Given the description of an element on the screen output the (x, y) to click on. 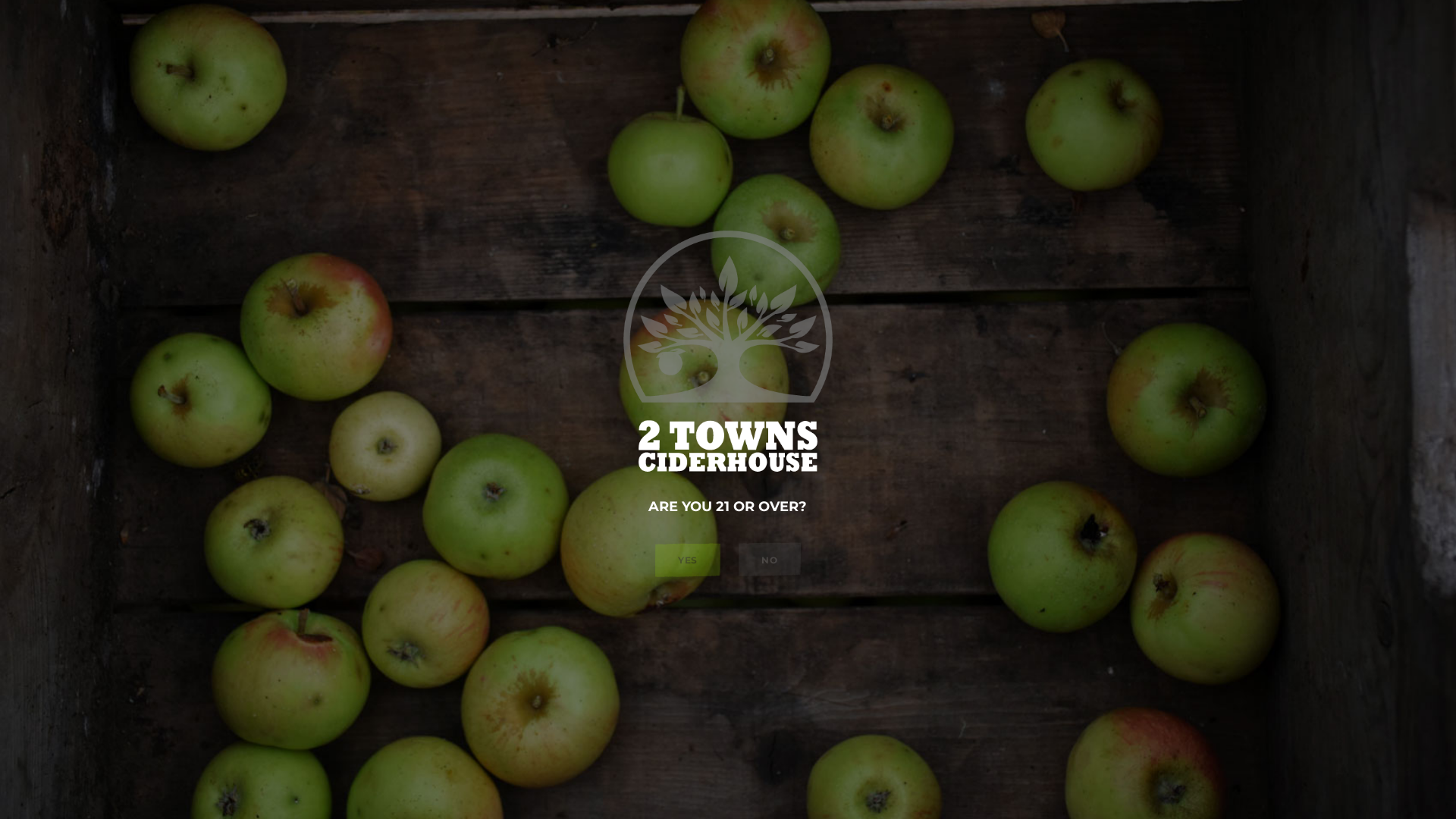
CAREERS Element type: text (127, 228)
NO Element type: text (769, 559)
CONTACT US Element type: text (137, 212)
OUR CIDERS Element type: text (418, 157)
SEASONAL Element type: text (415, 197)
EXTRAS Element type: text (841, 157)
SEARCH Element type: text (852, 243)
TRADITIONS Element type: text (419, 228)
SITEMAP Element type: text (846, 287)
CART Element type: text (1289, 26)
ABOUT Element type: text (121, 182)
TAP ROOM Element type: text (860, 182)
YES Element type: text (688, 559)
DISTRIBUTOR PORTAL Element type: text (935, 287)
PRIVACY POLICY Element type: text (624, 287)
TERMS & CONDITIONS Element type: text (519, 287)
LIMITED RELEASE Element type: text (434, 212)
ABOUT 2 TOWNS Element type: text (154, 157)
SHOP CIDER Element type: text (1187, 26)
FLAGSHIP Element type: text (413, 182)
CIDERS Element type: text (758, 26)
HAPPENING NOW Element type: text (900, 26)
SHOP Element type: text (846, 228)
EVENTS Element type: text (851, 197)
BLOG Element type: text (846, 212)
INFO Element type: text (815, 26)
SHOP MERCH Element type: text (1093, 26)
MEDIA Element type: text (120, 197)
TAP ROOM Element type: text (1002, 26)
CIDER FINDER Element type: text (1376, 26)
CIDER FINDER Element type: text (425, 243)
